Given the description of an element on the screen output the (x, y) to click on. 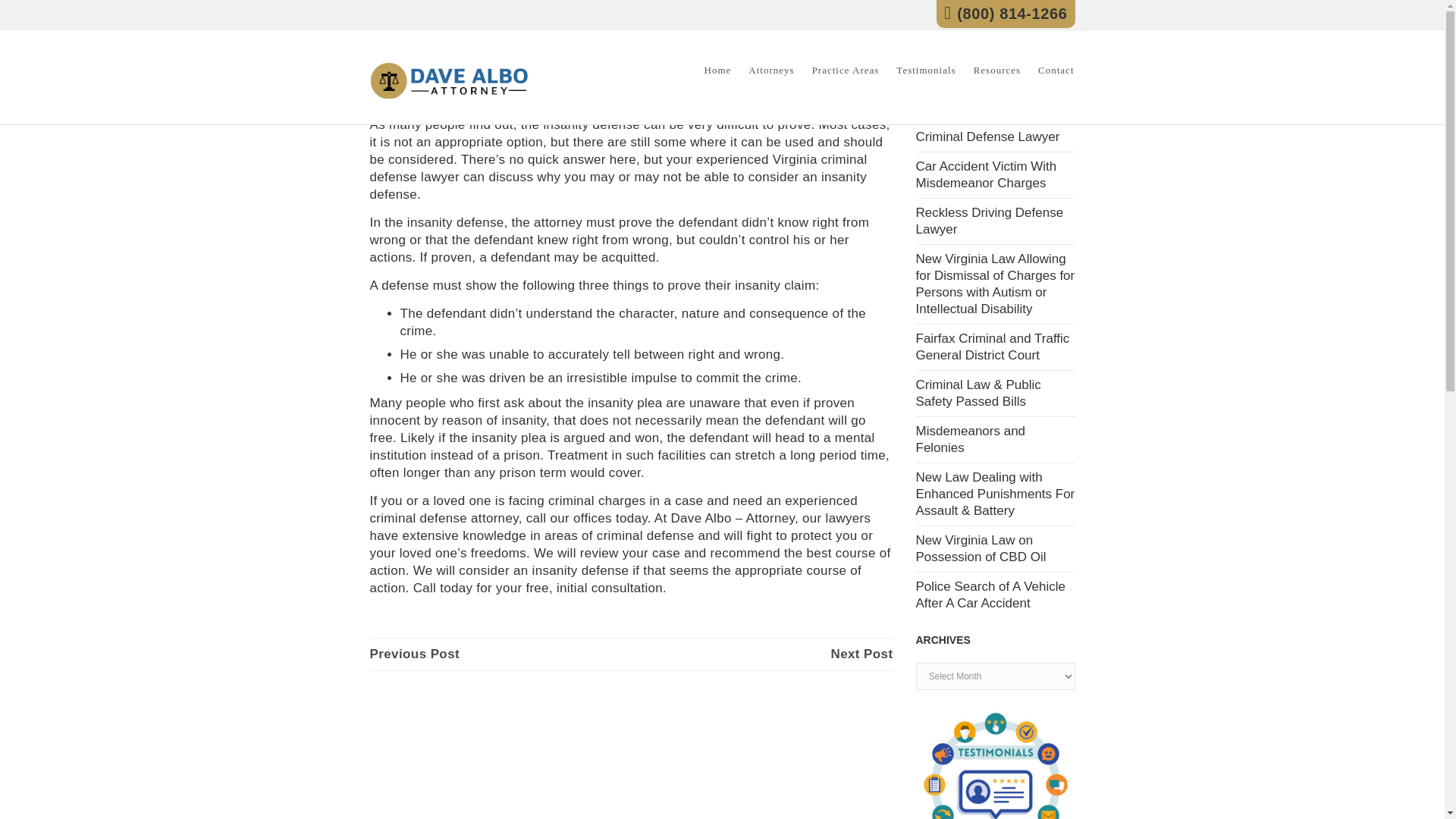
How Can A Virginia Criminal Defense Lawyer Help You (414, 654)
Practice Areas (845, 77)
Attorneys (770, 77)
